Given the description of an element on the screen output the (x, y) to click on. 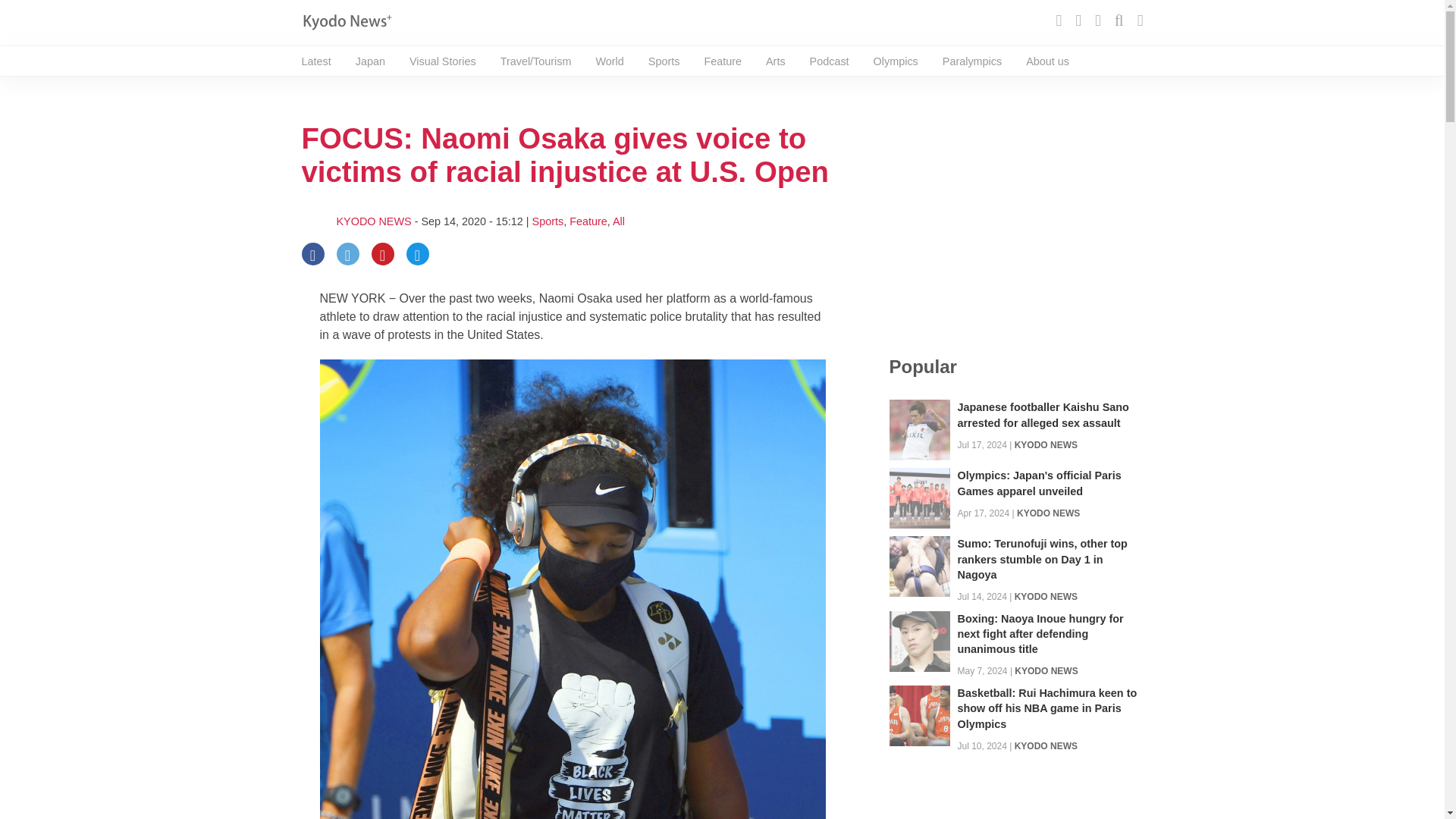
Feature (588, 221)
KYODO NEWS (374, 221)
Japan (370, 61)
Feature (722, 61)
Podcast (828, 61)
Arts (775, 61)
Sports (663, 61)
Latest (316, 61)
World (609, 61)
About us (1047, 61)
Paralympics (971, 61)
KYODO NEWS (1045, 444)
Sports (548, 221)
Advertisement (1015, 217)
